Given the description of an element on the screen output the (x, y) to click on. 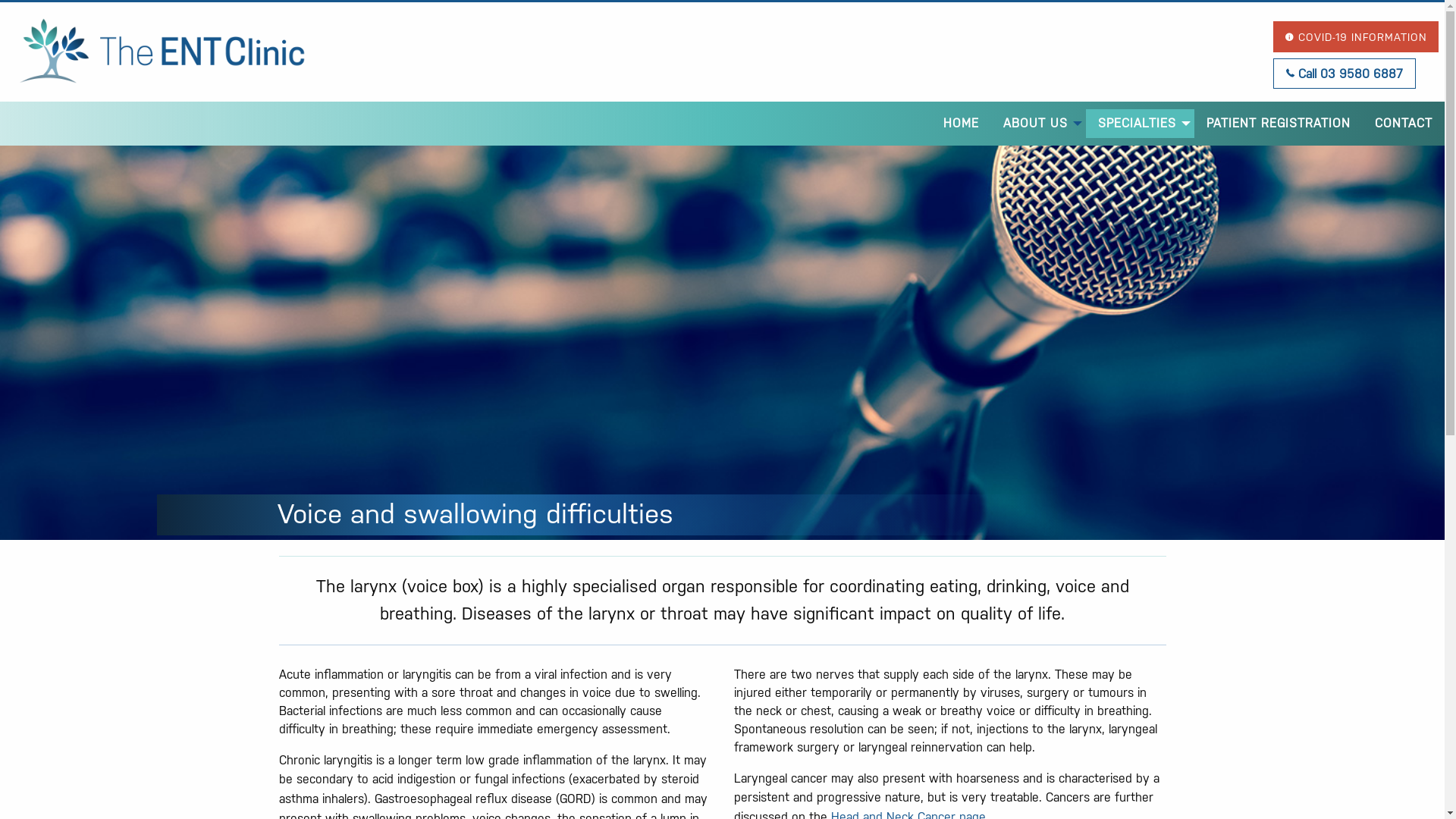
SPECIALTIES Element type: text (1139, 123)
CONTACT Element type: text (1403, 123)
ABOUT US Element type: text (1038, 123)
PATIENT REGISTRATION Element type: text (1278, 123)
Call 03 9580 6887 Element type: text (1344, 73)
HOME Element type: text (961, 123)
COVID-19 INFORMATION Element type: text (1355, 36)
